Given the description of an element on the screen output the (x, y) to click on. 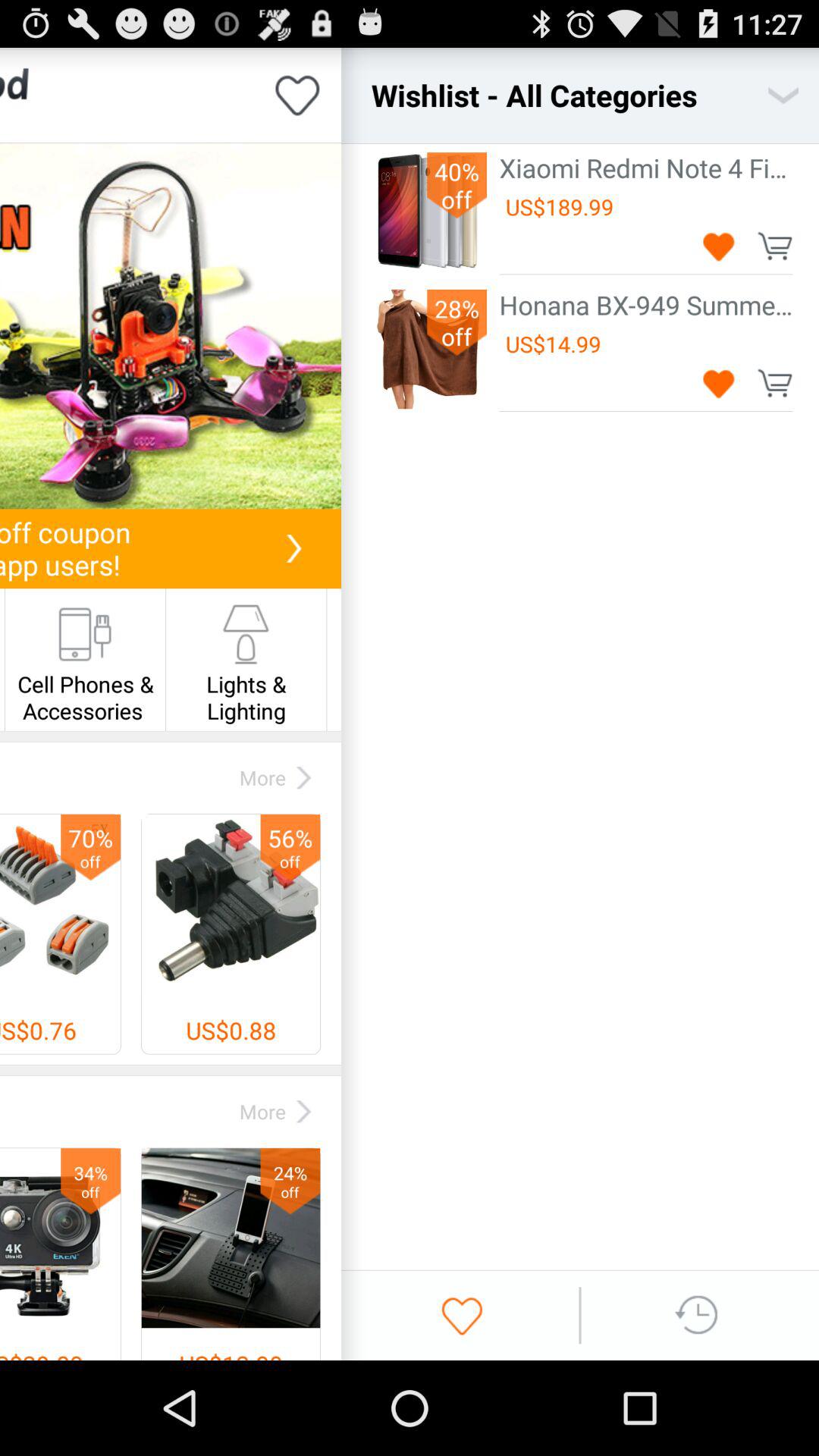
go to wishlist (461, 1315)
